Given the description of an element on the screen output the (x, y) to click on. 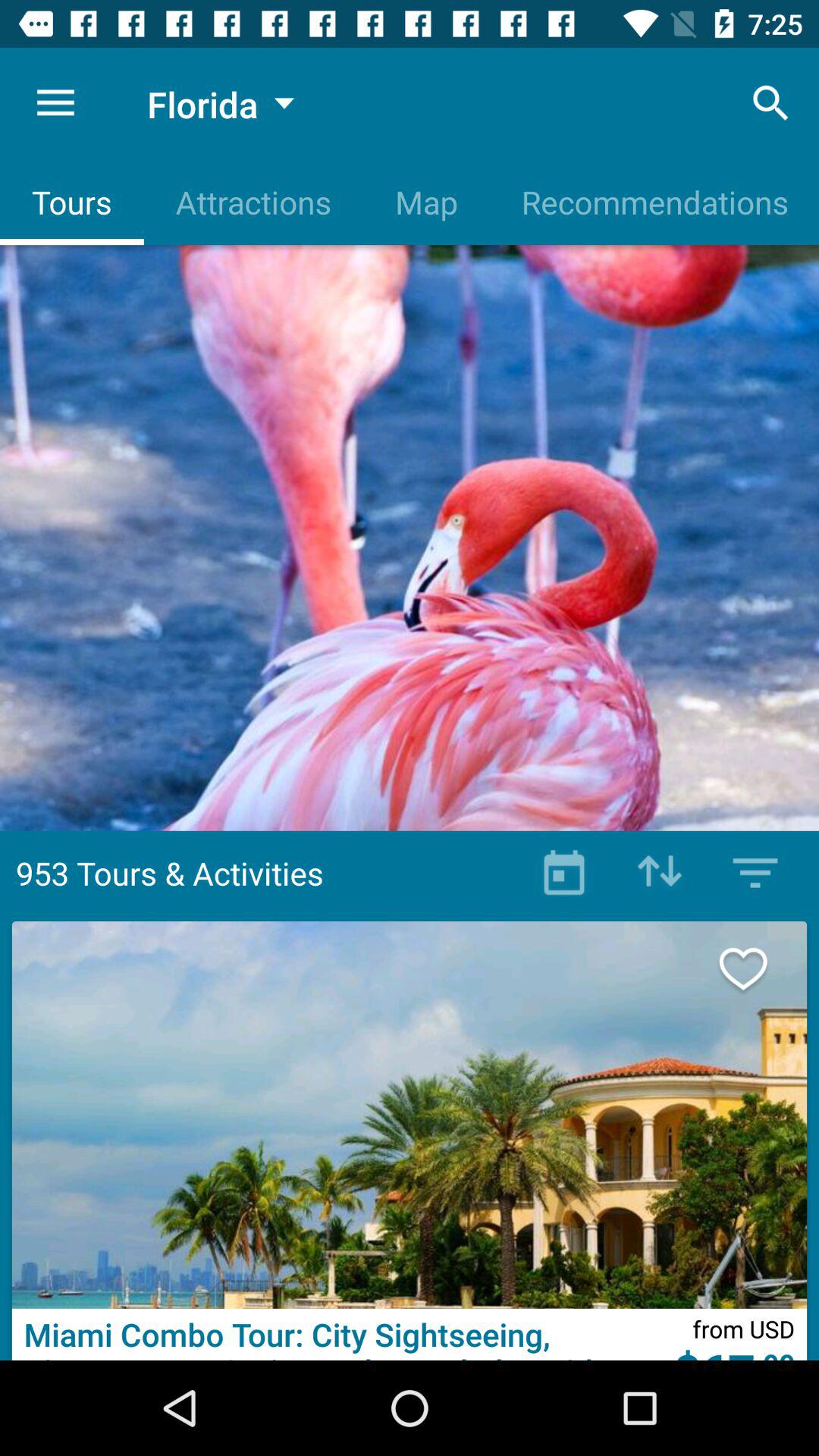
go to manu (755, 872)
